Given the description of an element on the screen output the (x, y) to click on. 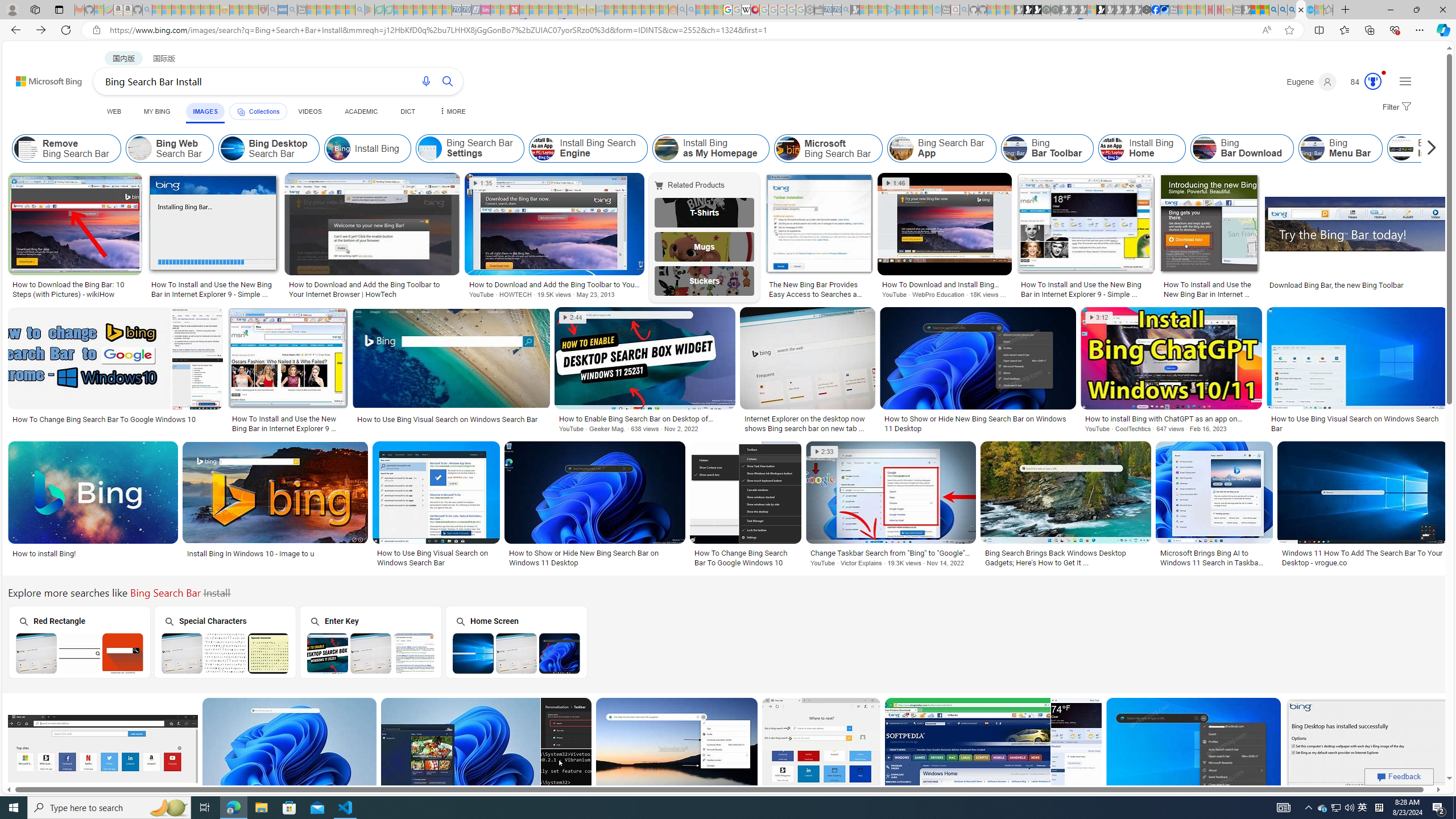
Search using voice (426, 80)
How To Change Bing Search Bar To Google Windows 10 (745, 557)
Bing Bar Toolbar (1014, 148)
How to Use Bing Visual Search on Windows Search BarSave (437, 505)
Bing Search Bar On Home Screen Home Screen (515, 642)
Microsoft Bing Search Bar (788, 148)
Bing Search Bar Settings (429, 148)
